Given the description of an element on the screen output the (x, y) to click on. 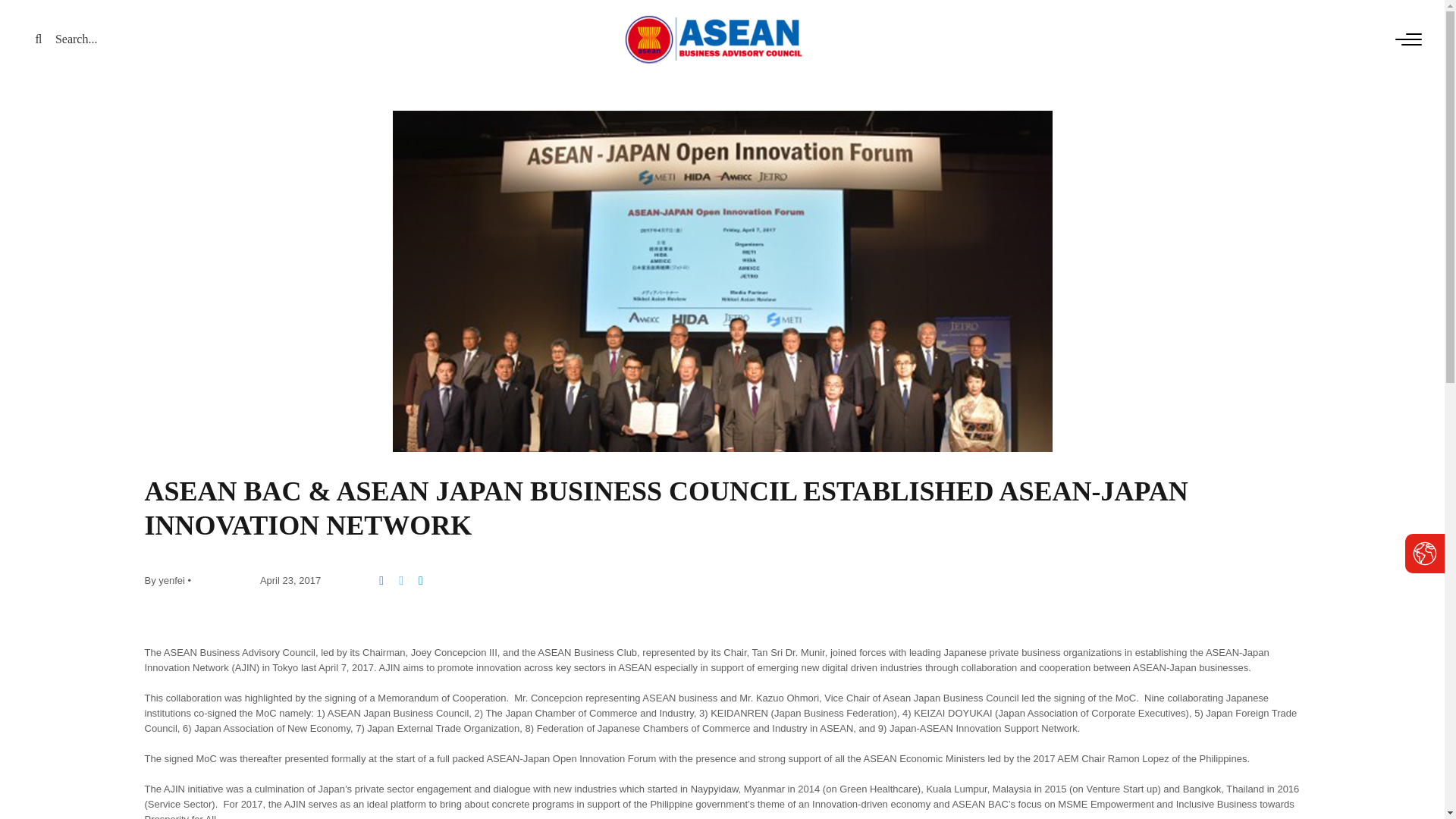
earth (1424, 553)
MENU (1389, 39)
